Given the description of an element on the screen output the (x, y) to click on. 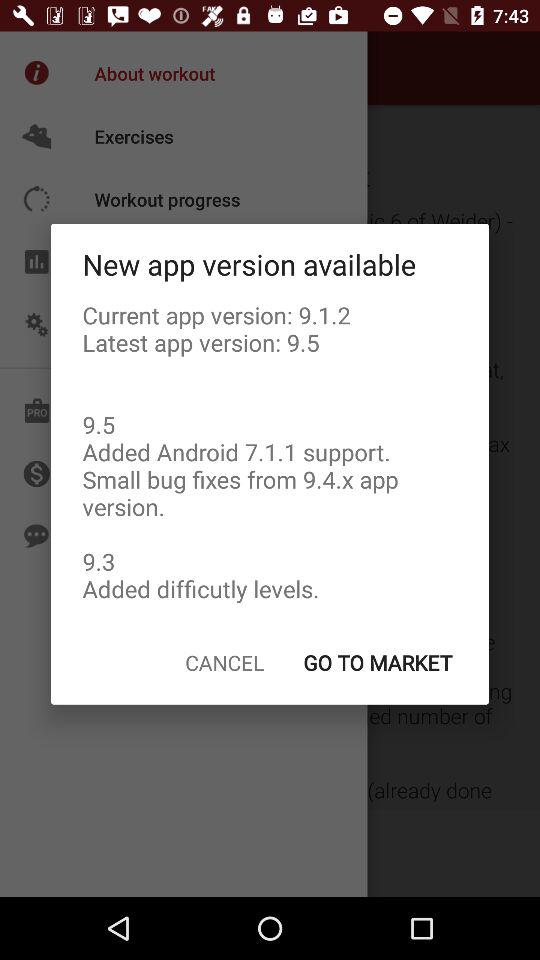
jump to cancel icon (224, 662)
